Given the description of an element on the screen output the (x, y) to click on. 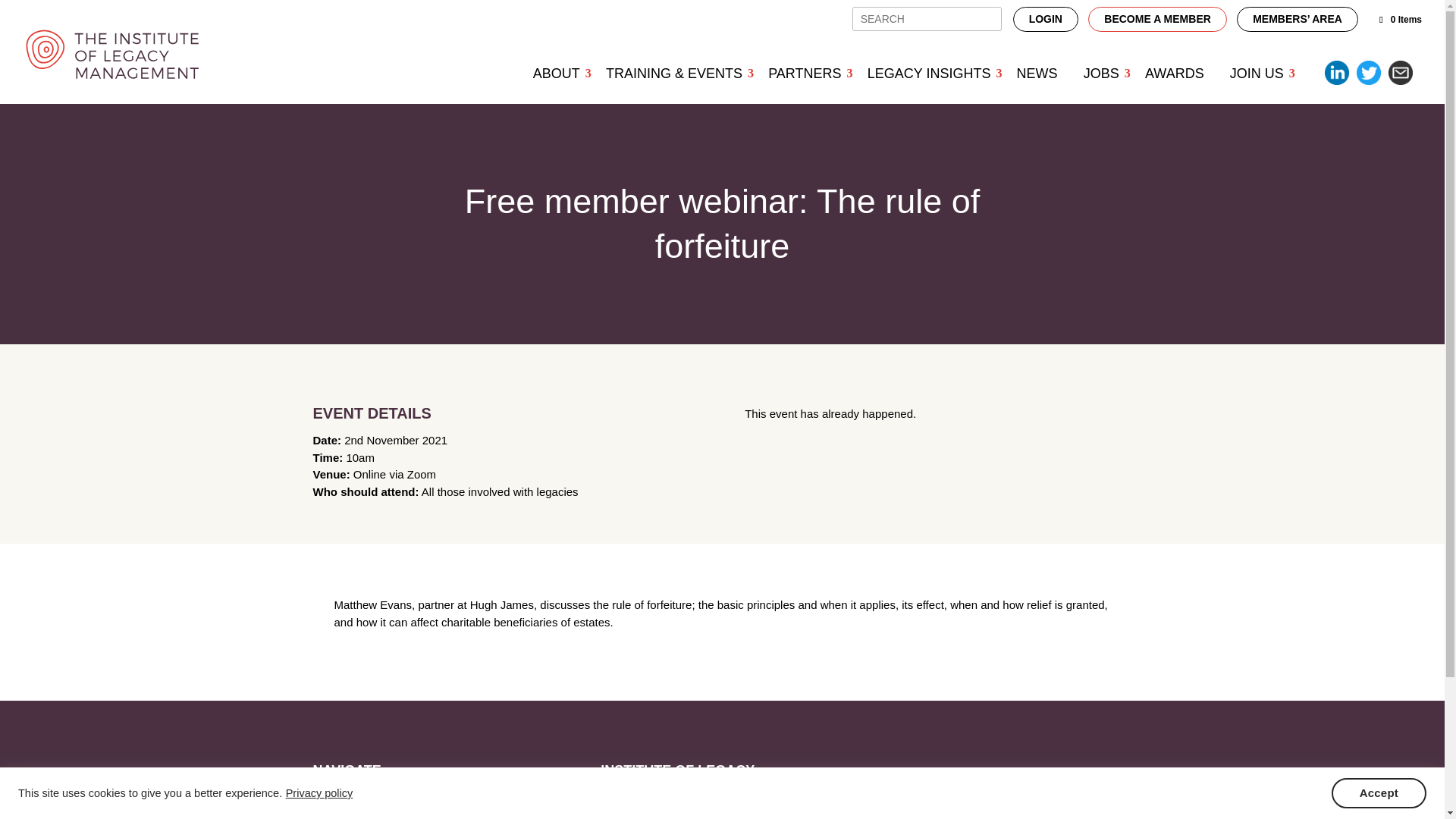
0 Items (1399, 19)
BECOME A MEMBER (1157, 19)
LOGIN (1045, 19)
ABOUT (556, 72)
JOIN US (1256, 72)
NEWS (1037, 72)
AWARDS (1174, 72)
JOBS (1101, 72)
LEGACY INSIGHTS (929, 72)
PARTNERS (804, 72)
